Given the description of an element on the screen output the (x, y) to click on. 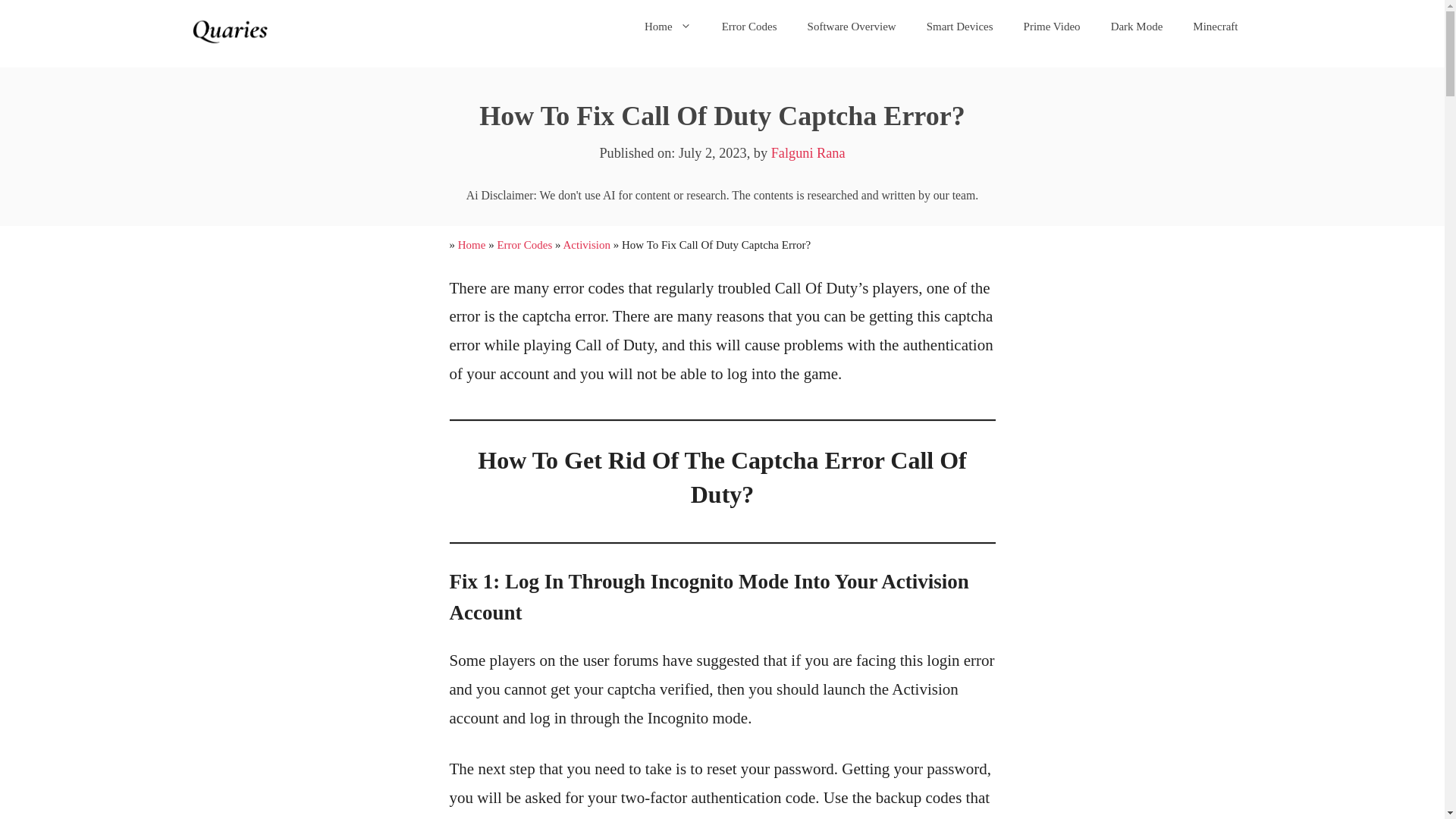
Error Codes (523, 244)
Activision (587, 244)
Minecraft (1214, 26)
Software Overview (851, 26)
Home (667, 26)
Dark Mode (1136, 26)
Home (472, 244)
Error Codes (749, 26)
Falguni Rana (808, 152)
Prime Video (1052, 26)
